Given the description of an element on the screen output the (x, y) to click on. 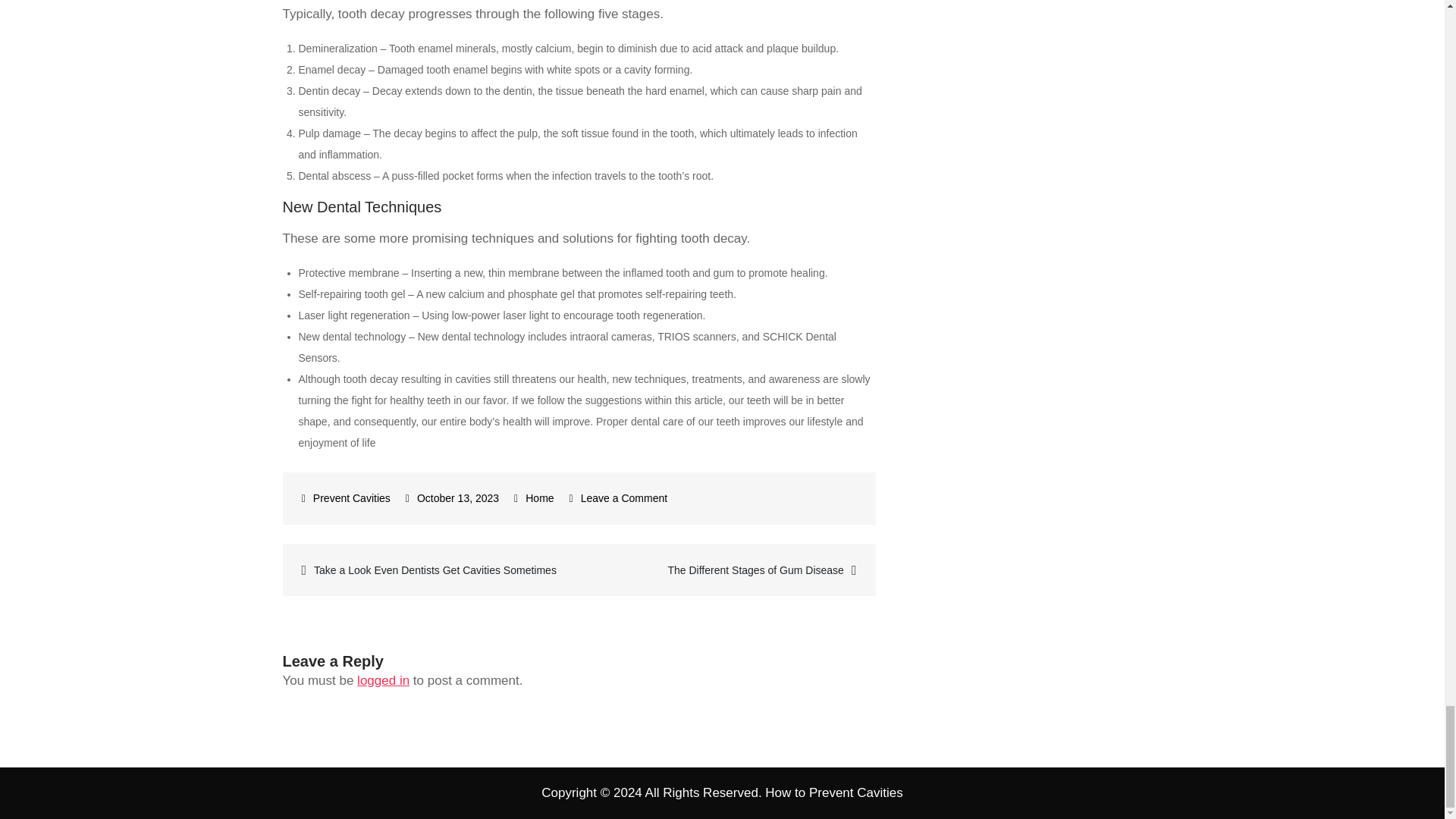
Take a Look Even Dentists Get Cavities Sometimes (430, 569)
The Different Stages of Gum Disease (726, 569)
logged in (382, 680)
Prevent Cavities (345, 498)
Home (539, 498)
October 13, 2023 (452, 498)
